Given the description of an element on the screen output the (x, y) to click on. 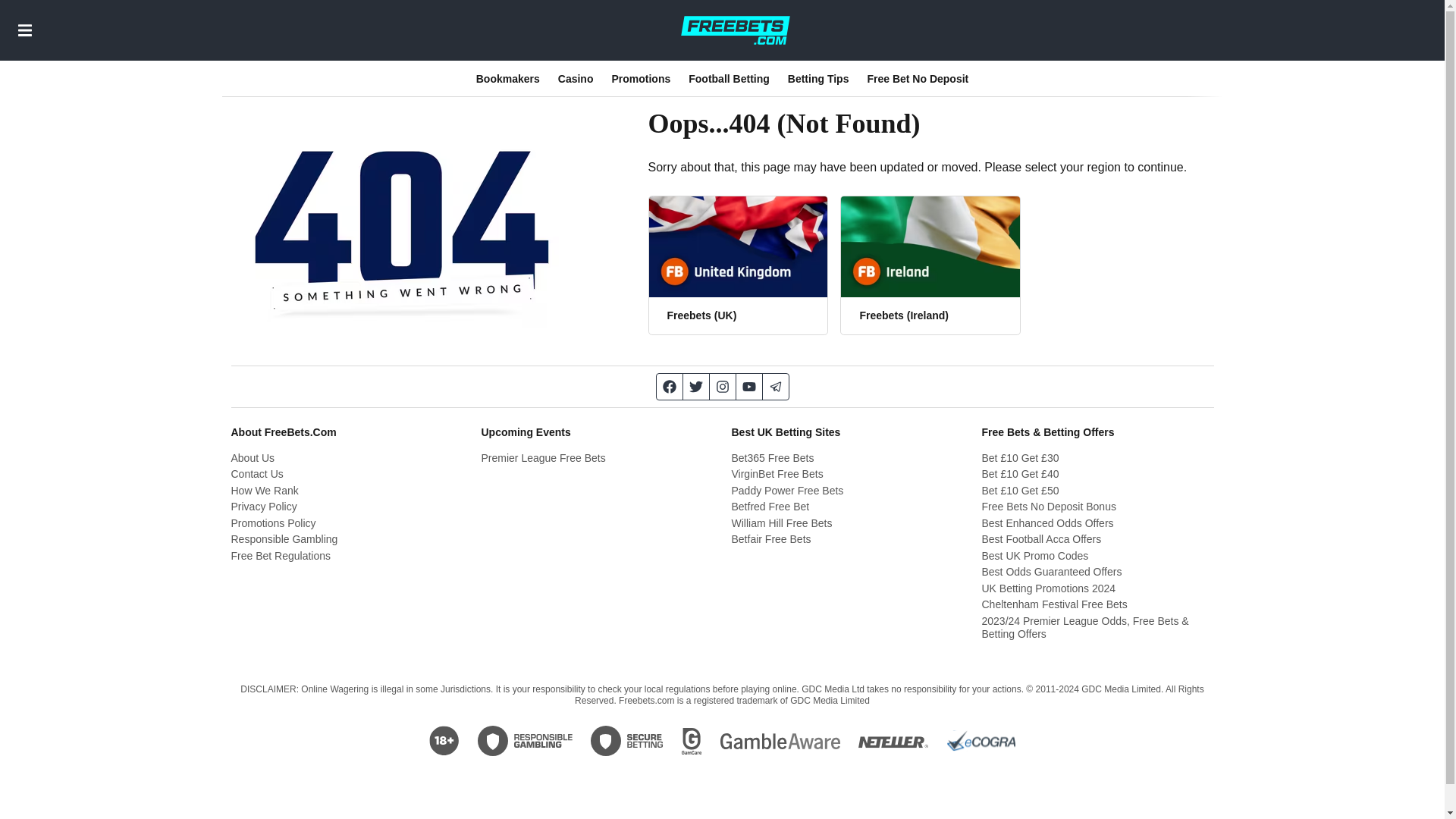
Youtube page (748, 386)
Instagram page (723, 386)
Twitter feed (695, 386)
FreeBets Logo (735, 29)
Telegram (775, 386)
Facebook page (669, 386)
